Given the description of an element on the screen output the (x, y) to click on. 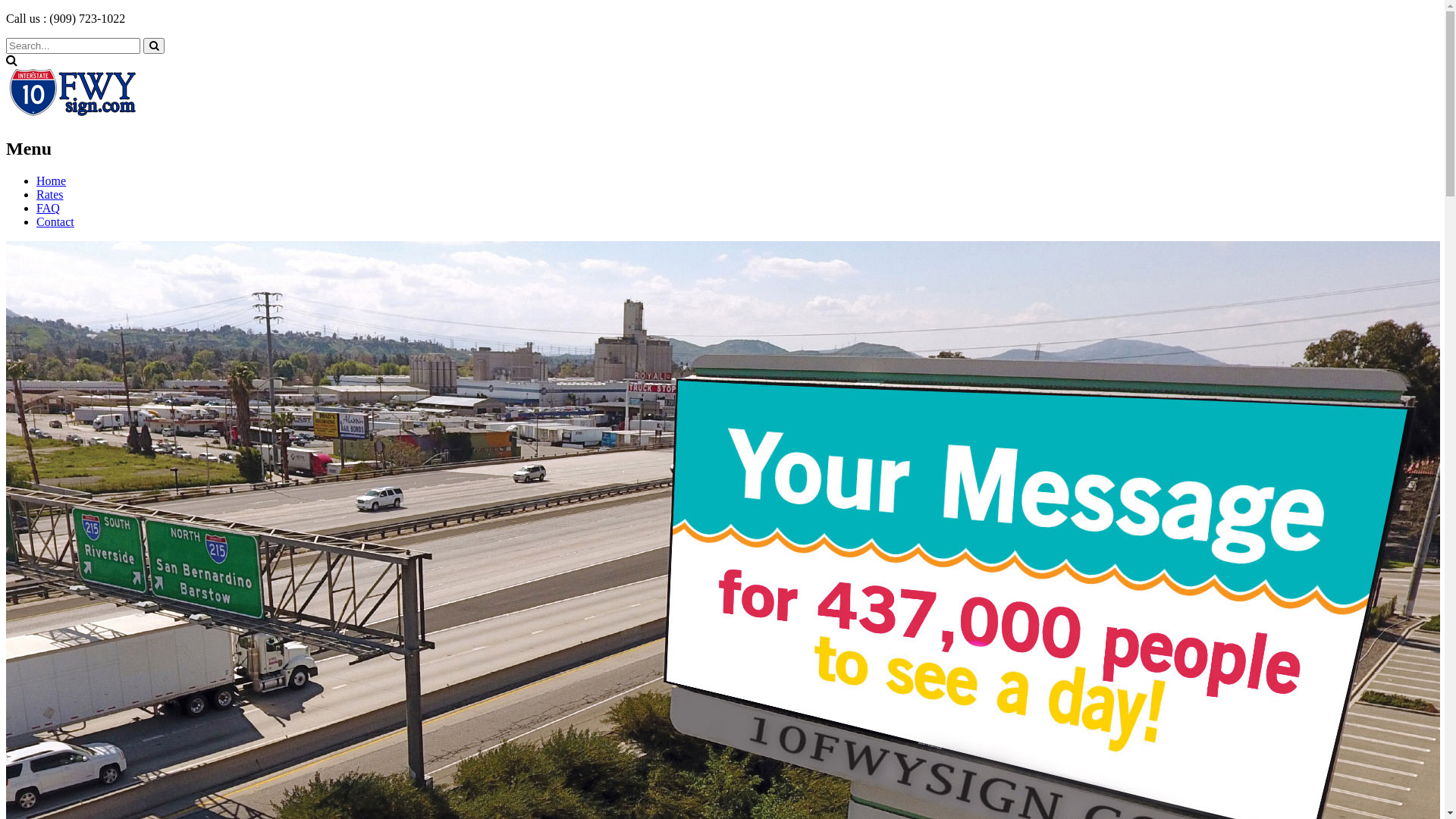
Home Element type: text (50, 180)
Contact Element type: text (55, 221)
Rates Element type: text (49, 194)
FAQ Element type: text (47, 207)
